Given the description of an element on the screen output the (x, y) to click on. 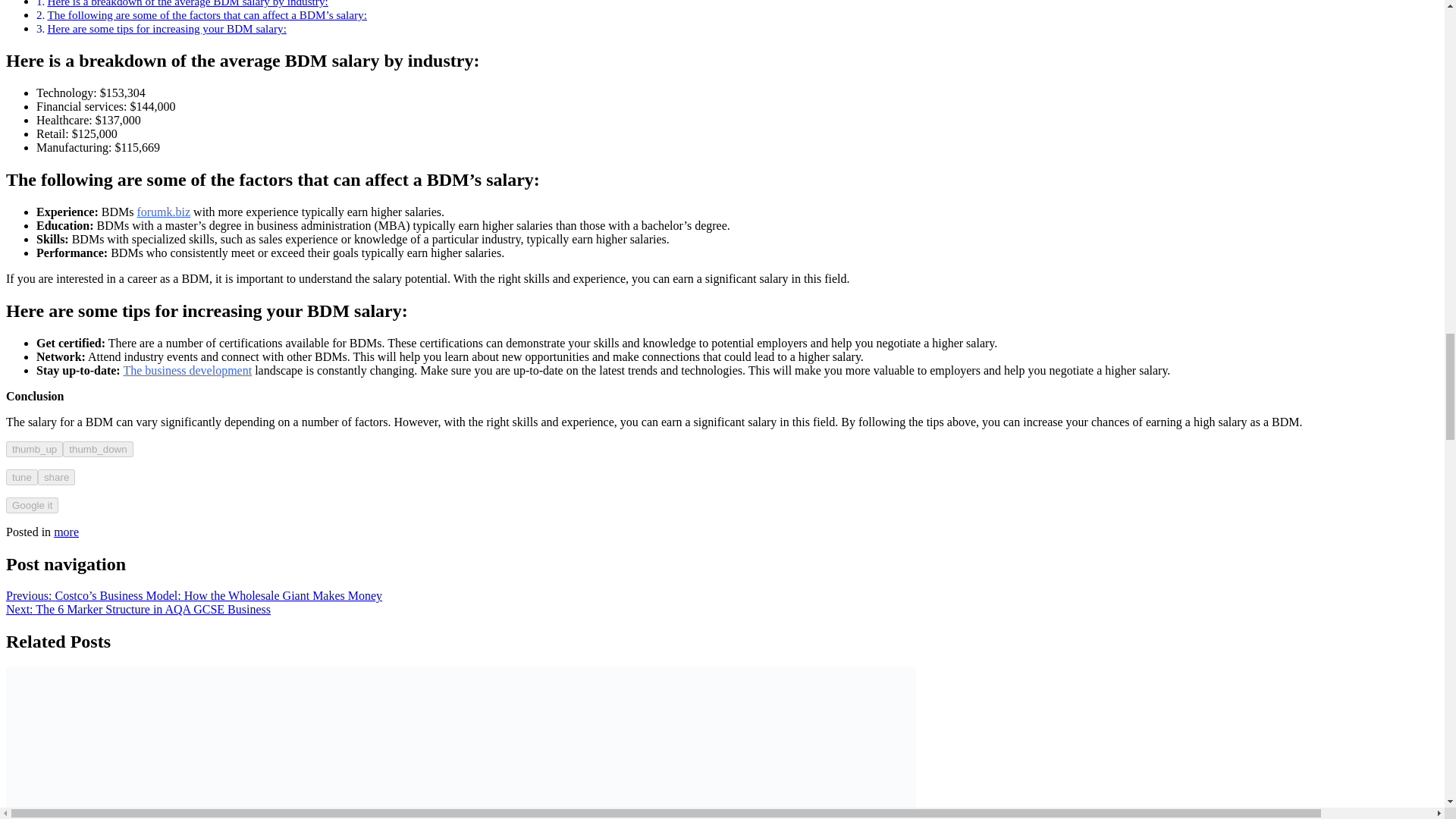
Next: The 6 Marker Structure in AQA GCSE Business (137, 608)
The business development (186, 369)
Here is a breakdown of the average BDM salary by industry: (186, 3)
more (65, 531)
tune (21, 477)
share (56, 477)
Here are some tips for increasing your BDM salary: (165, 28)
Here is a breakdown of the average BDM salary by industry: (186, 3)
Google it (31, 505)
Here are some tips for increasing your BDM salary: (165, 28)
forumk.biz (163, 211)
